Given the description of an element on the screen output the (x, y) to click on. 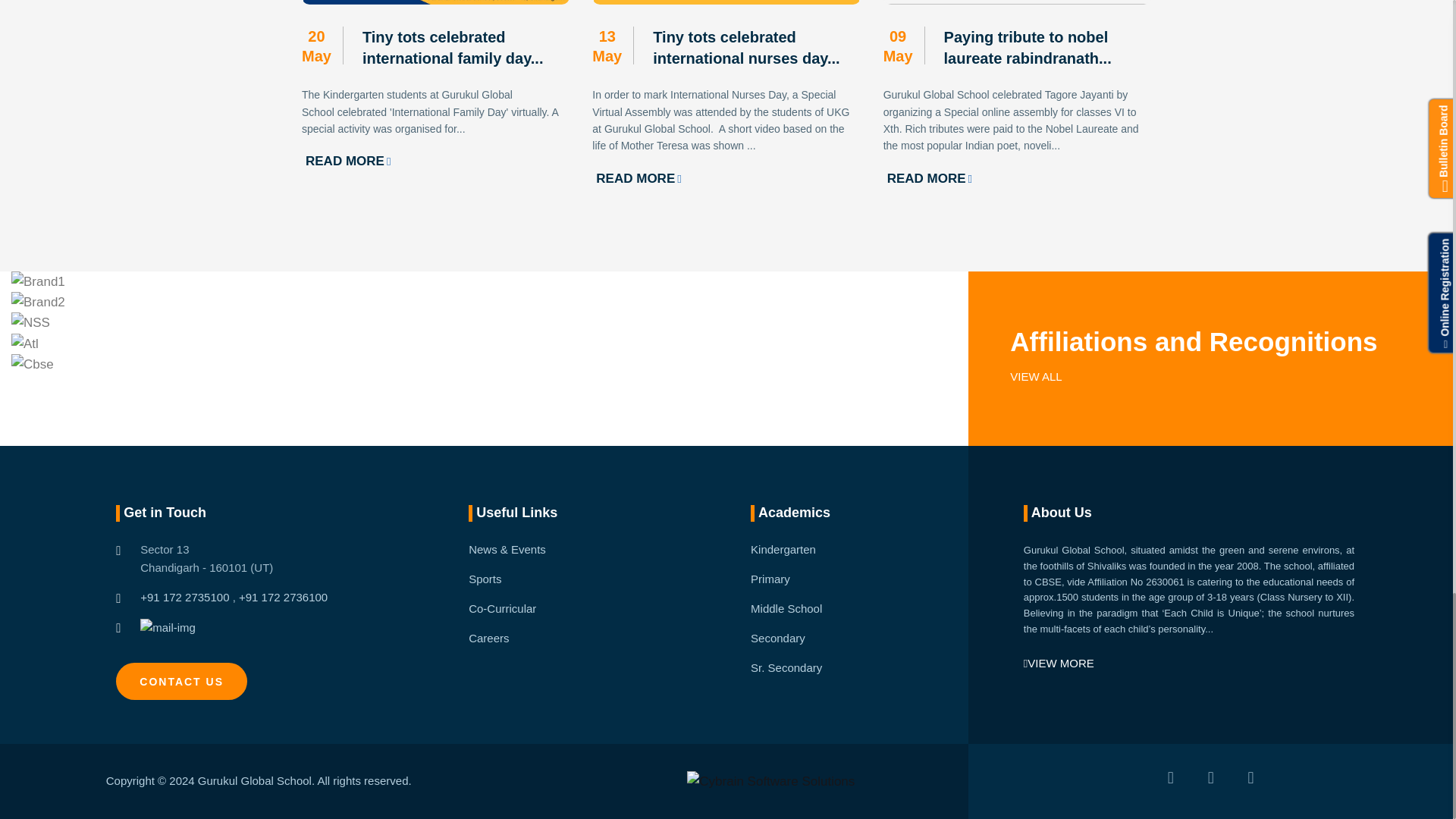
Brand1 (38, 281)
NSS (30, 322)
Cbse (32, 363)
Brand2 (38, 301)
Atl (25, 343)
